Given the description of an element on the screen output the (x, y) to click on. 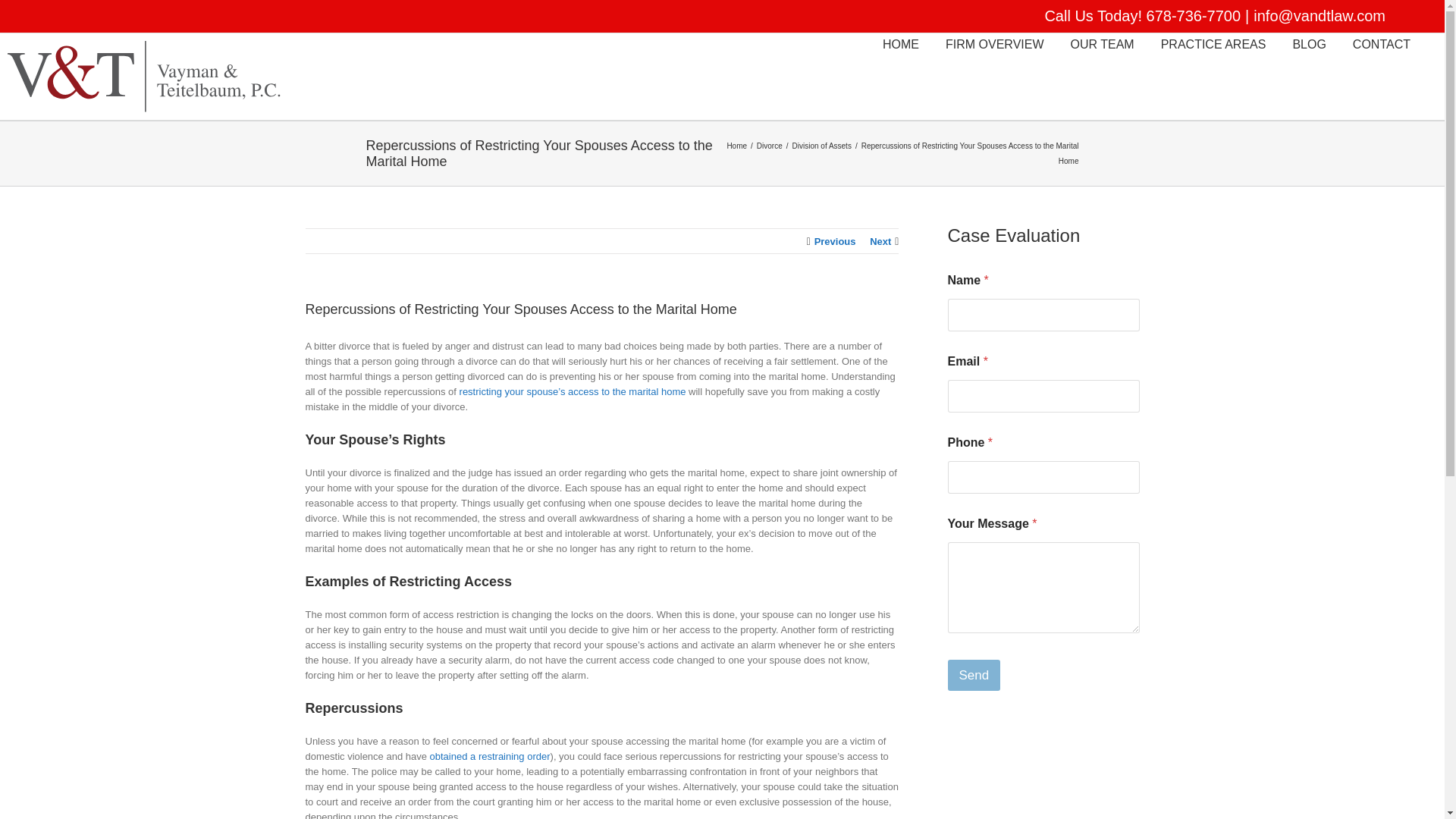
PRACTICE AREAS (1213, 43)
OUR TEAM (1102, 43)
Division of Assets (824, 144)
Call Us Today! 678-736-7700 (1141, 15)
FIRM OVERVIEW (993, 43)
Divorce (771, 144)
HOME (900, 43)
CONTACT (1381, 43)
BLOG (1308, 43)
